Given the description of an element on the screen output the (x, y) to click on. 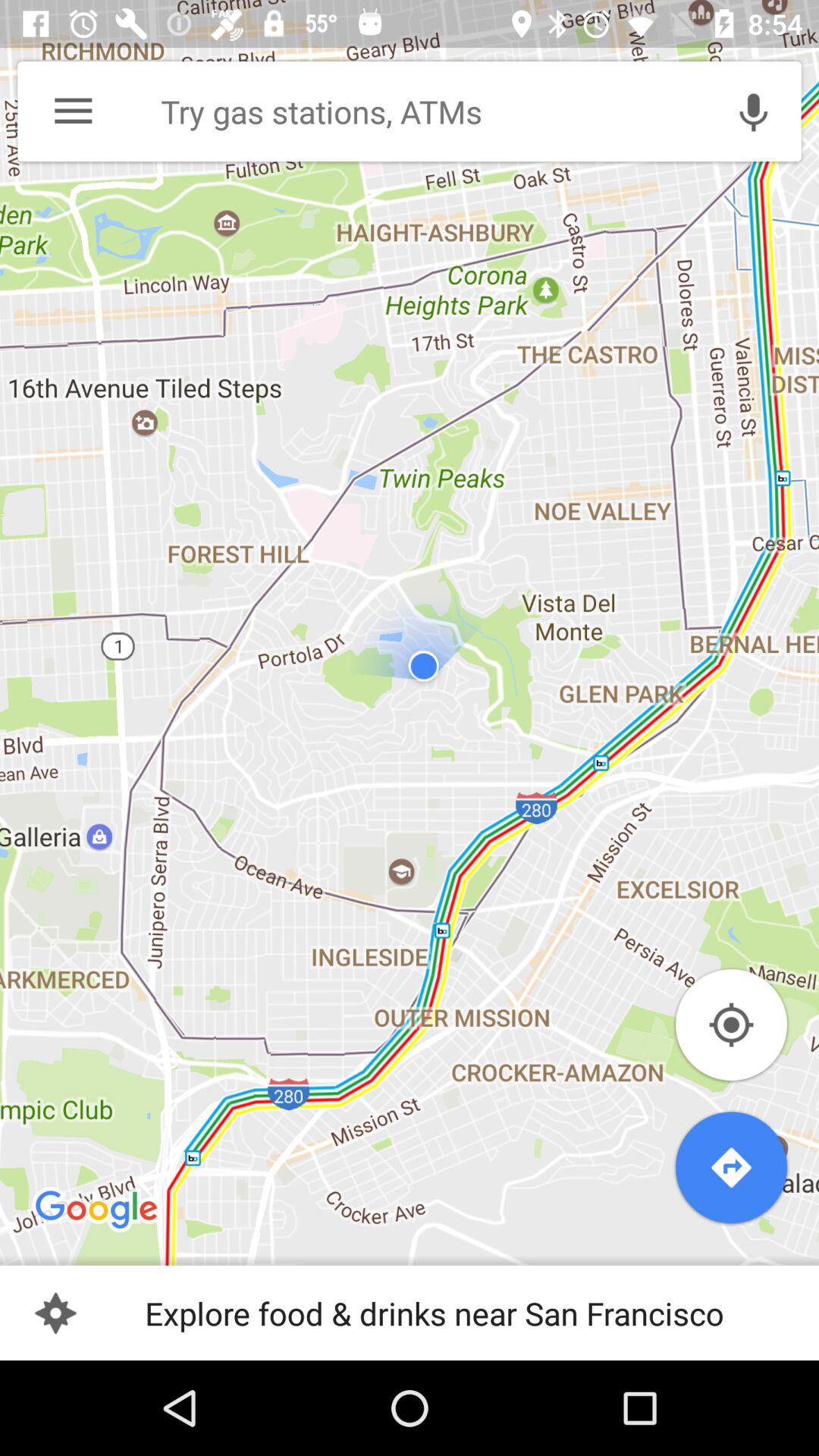
click on location icon (731, 1024)
click the menu bar icon (73, 111)
click on voice recorder (753, 111)
select the icon before the text explore food (55, 1312)
click on the search tab (425, 111)
